Given the description of an element on the screen output the (x, y) to click on. 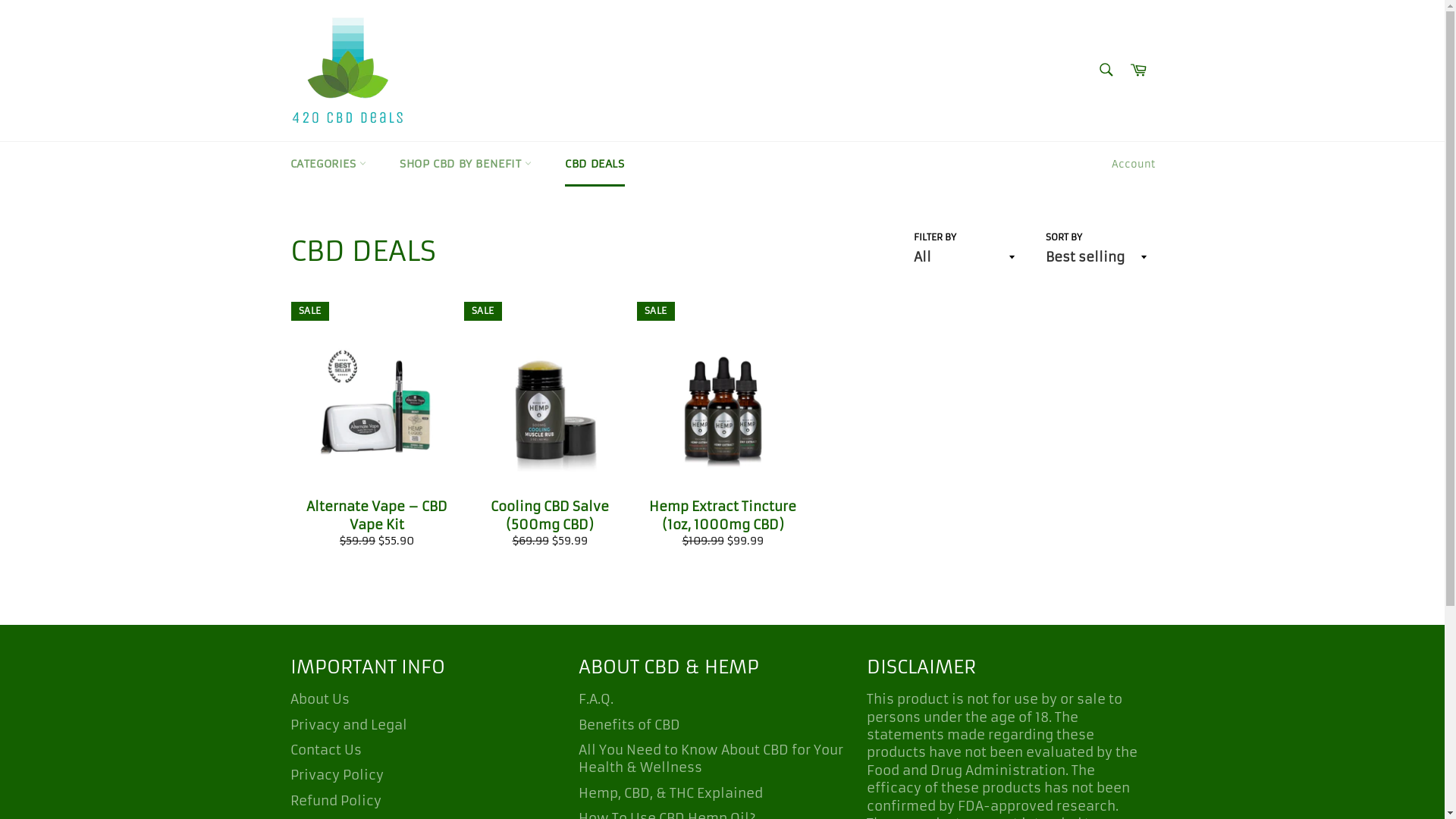
Hemp, CBD, & THC Explained Element type: text (669, 792)
All You Need to Know About CBD for Your Health & Wellness Element type: text (709, 758)
Contact Us Element type: text (324, 749)
CATEGORIES Element type: text (327, 163)
Account Element type: text (1133, 164)
Refund Policy Element type: text (334, 800)
Privacy Policy Element type: text (335, 774)
SHOP CBD BY BENEFIT Element type: text (465, 163)
Cart Element type: text (1138, 70)
CBD DEALS Element type: text (594, 163)
Benefits of CBD Element type: text (628, 724)
Search Element type: text (1105, 68)
About Us Element type: text (318, 698)
F.A.Q. Element type: text (594, 698)
Privacy and Legal Element type: text (347, 724)
